Given the description of an element on the screen output the (x, y) to click on. 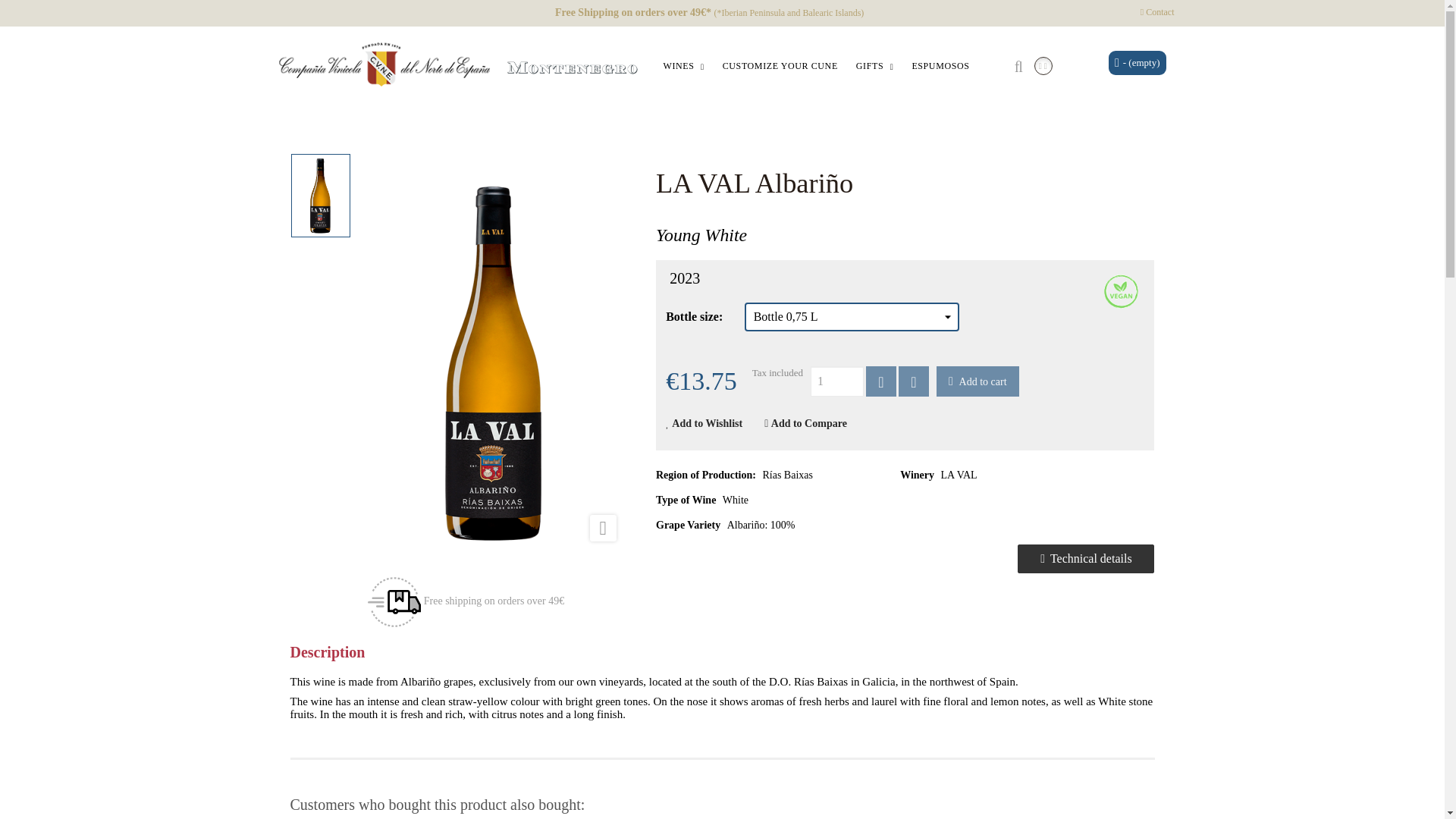
1 (836, 381)
CUSTOMIZE YOUR CUNE (780, 65)
Add to Compare (810, 423)
Account (1042, 65)
Add to Wishlist (711, 423)
GIFTS (874, 65)
WINES (683, 65)
Contact (1157, 11)
